Given the description of an element on the screen output the (x, y) to click on. 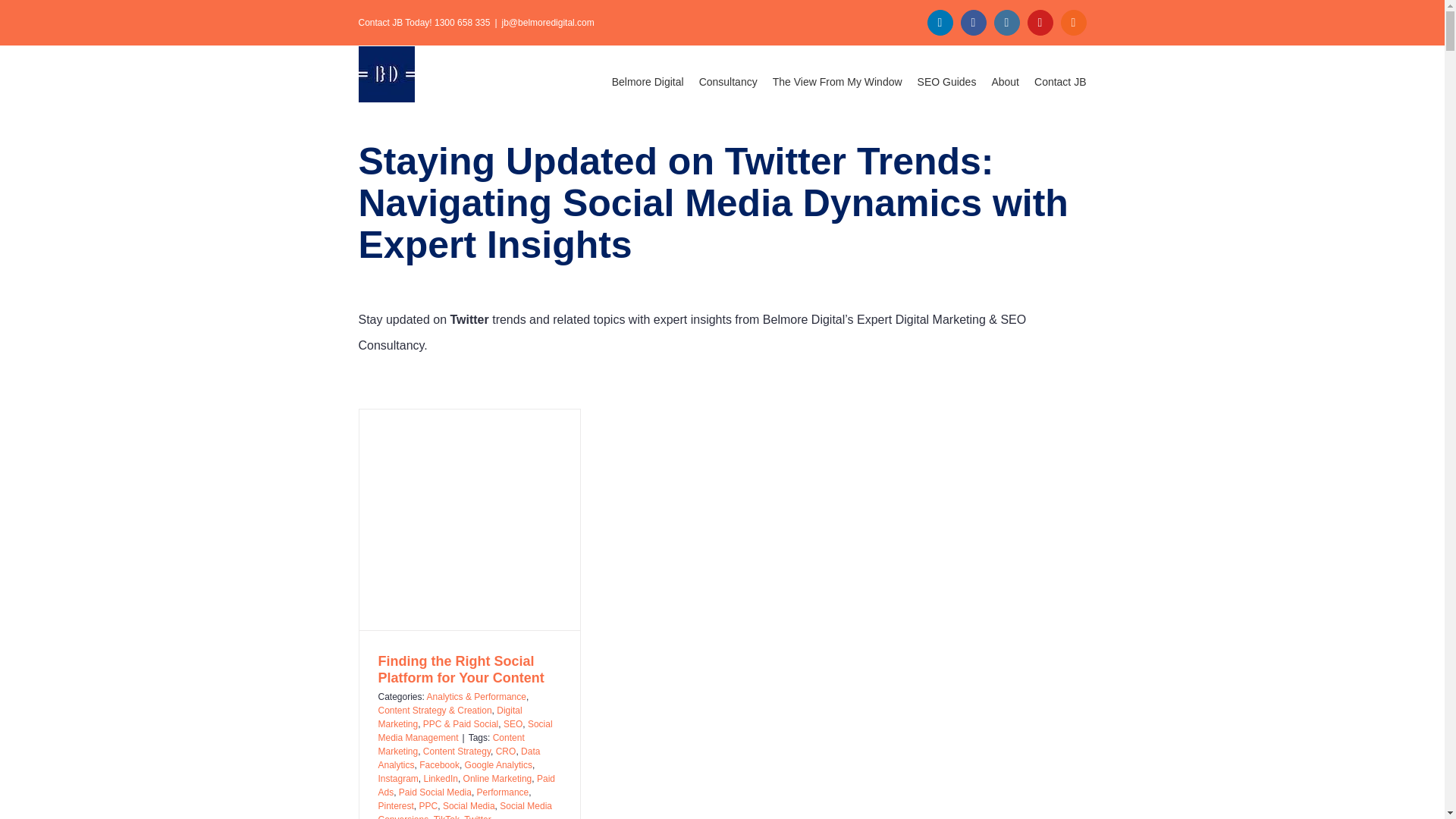
Facebook (973, 22)
Facebook (973, 22)
Instagram (1007, 22)
YouTube (1039, 22)
Rss (1073, 22)
YouTube (1039, 22)
The View From My Window (837, 81)
Belmore Digital (647, 81)
Contact JB Today! 1300 658 335 (423, 22)
LinkedIn (940, 22)
